Given the description of an element on the screen output the (x, y) to click on. 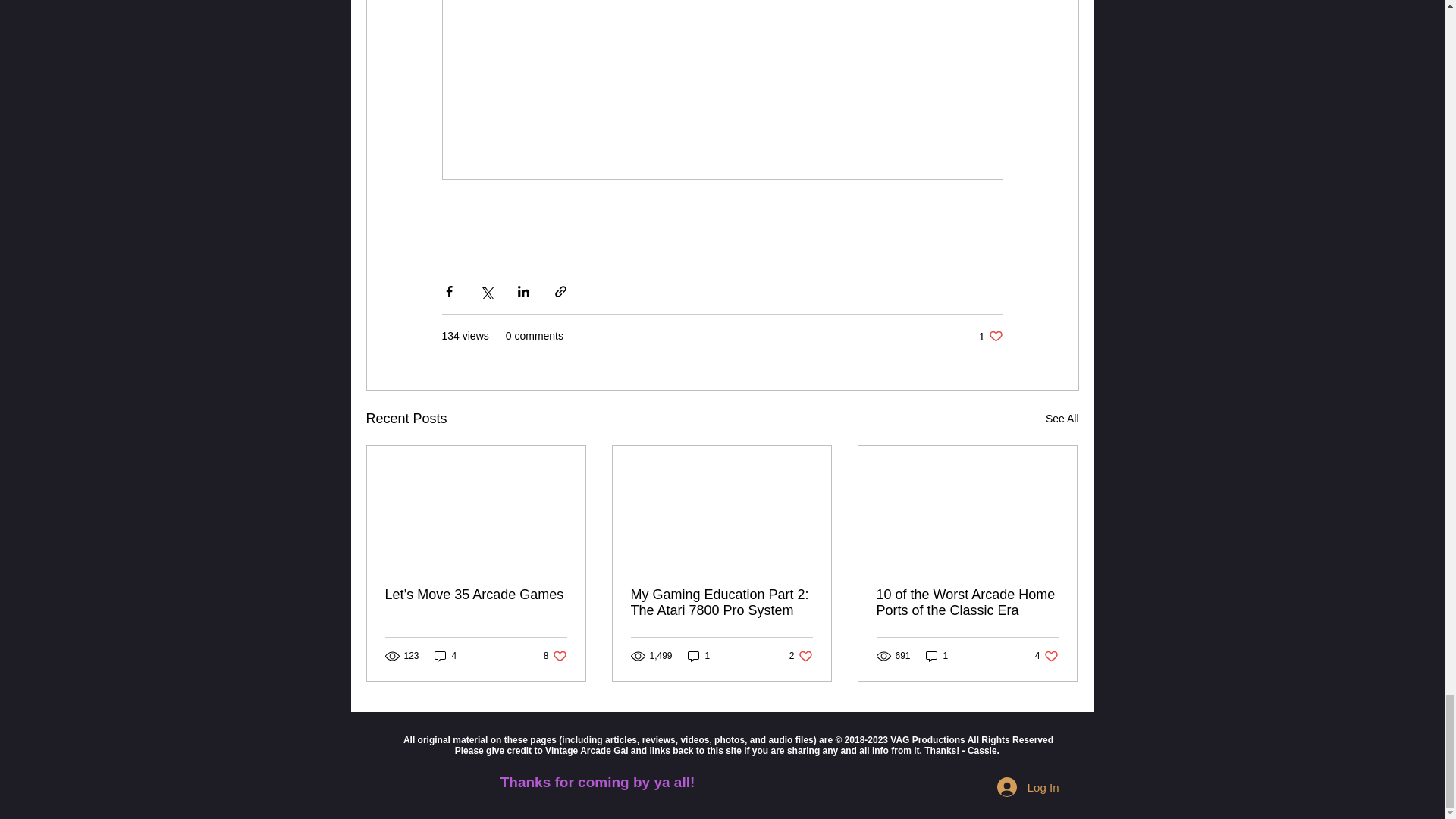
4 (1046, 656)
Log In (445, 656)
1 (800, 656)
10 of the Worst Arcade Home Ports of the Classic Era (1028, 787)
See All (555, 656)
1 (698, 656)
My Gaming Education Part 2: The Atari 7800 Pro System (967, 603)
